Given the description of an element on the screen output the (x, y) to click on. 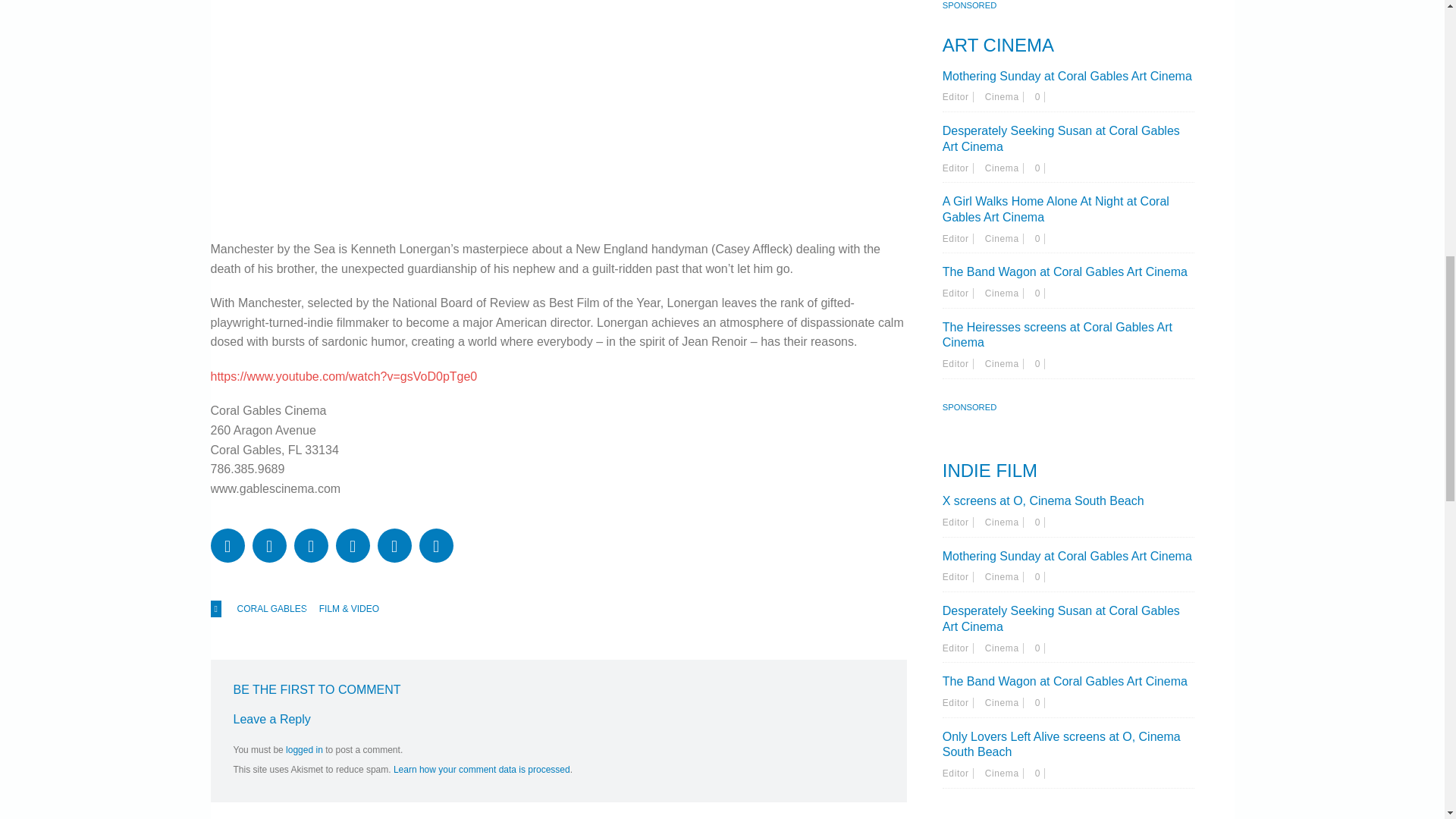
0 (1040, 96)
0 (1040, 363)
0 (1040, 293)
0 (1040, 521)
0 (1040, 167)
0 (1040, 238)
0 (1040, 576)
0 (1040, 702)
0 (1040, 647)
0 (1040, 773)
